Given the description of an element on the screen output the (x, y) to click on. 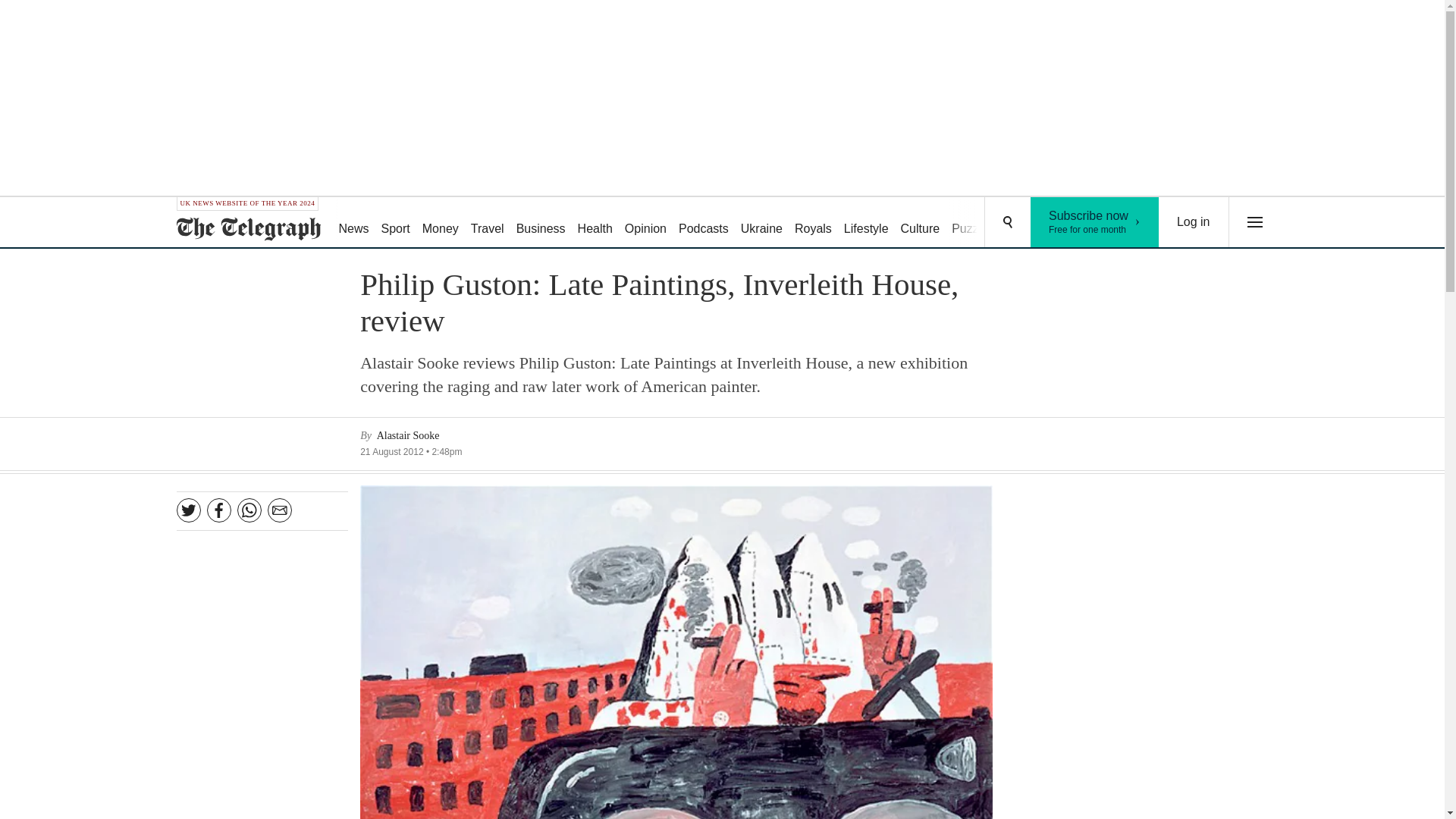
Sport (395, 223)
Lifestyle (866, 223)
Business (541, 223)
Podcasts (703, 223)
Money (440, 223)
Opinion (645, 223)
Royals (813, 223)
Culture (920, 223)
News (352, 223)
Puzzles (972, 223)
Log in (1094, 222)
Ukraine (1193, 222)
Health (762, 223)
Travel (595, 223)
